Given the description of an element on the screen output the (x, y) to click on. 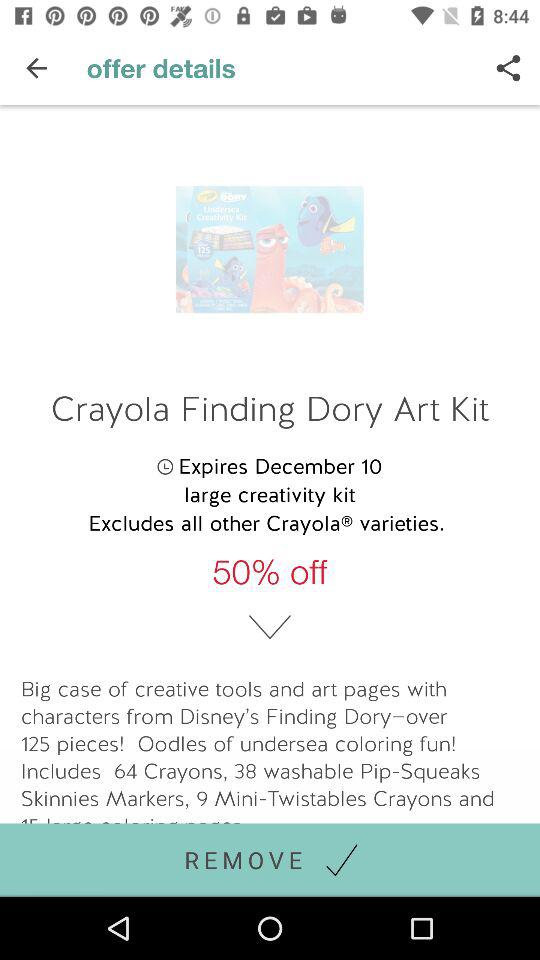
turn on the icon next to the offer details icon (36, 67)
